Given the description of an element on the screen output the (x, y) to click on. 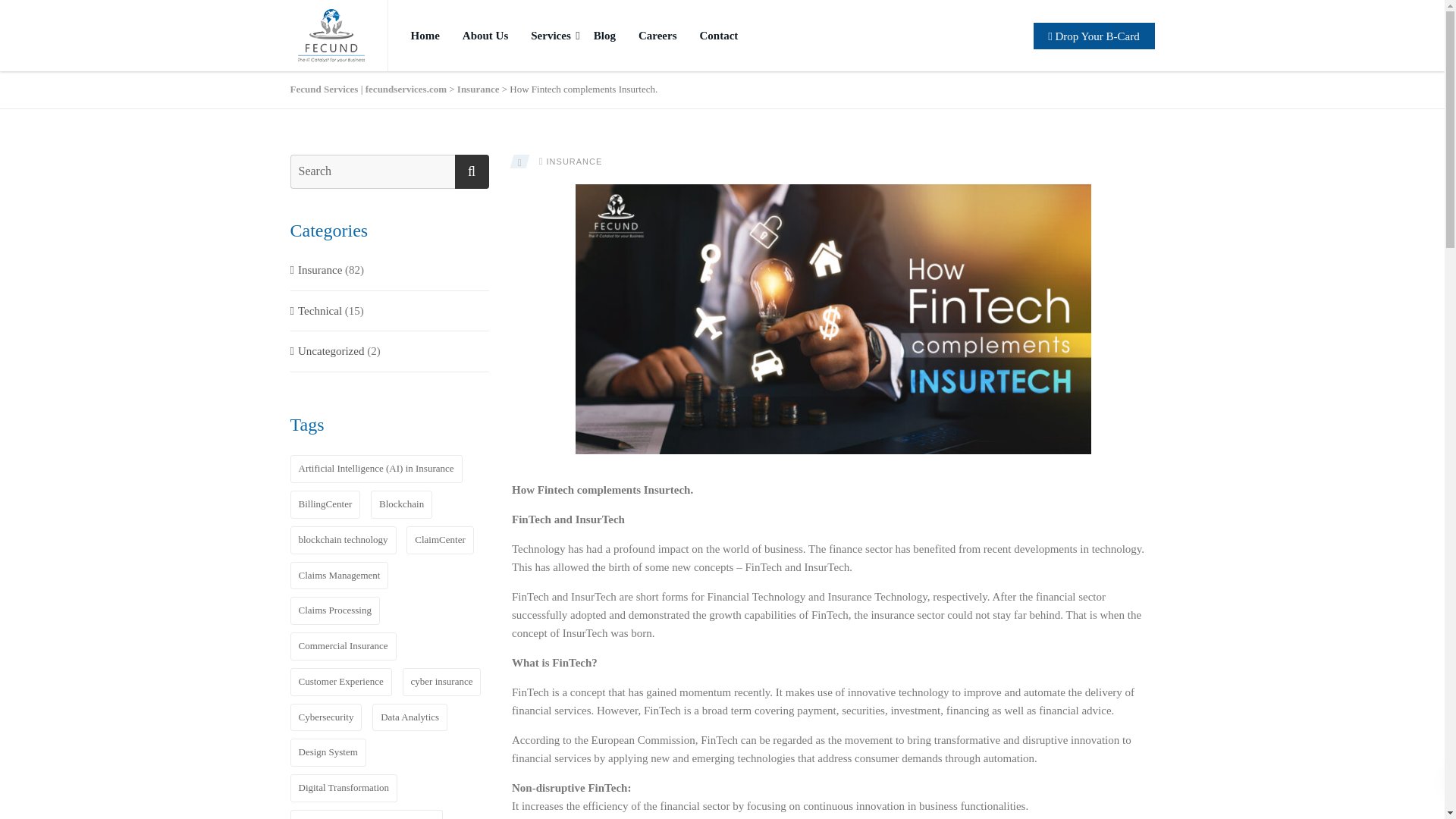
Insurance (478, 89)
Drop Your B-Card (1093, 35)
Go to the Insurance Category archives. (478, 89)
INSURANCE (574, 161)
